Given the description of an element on the screen output the (x, y) to click on. 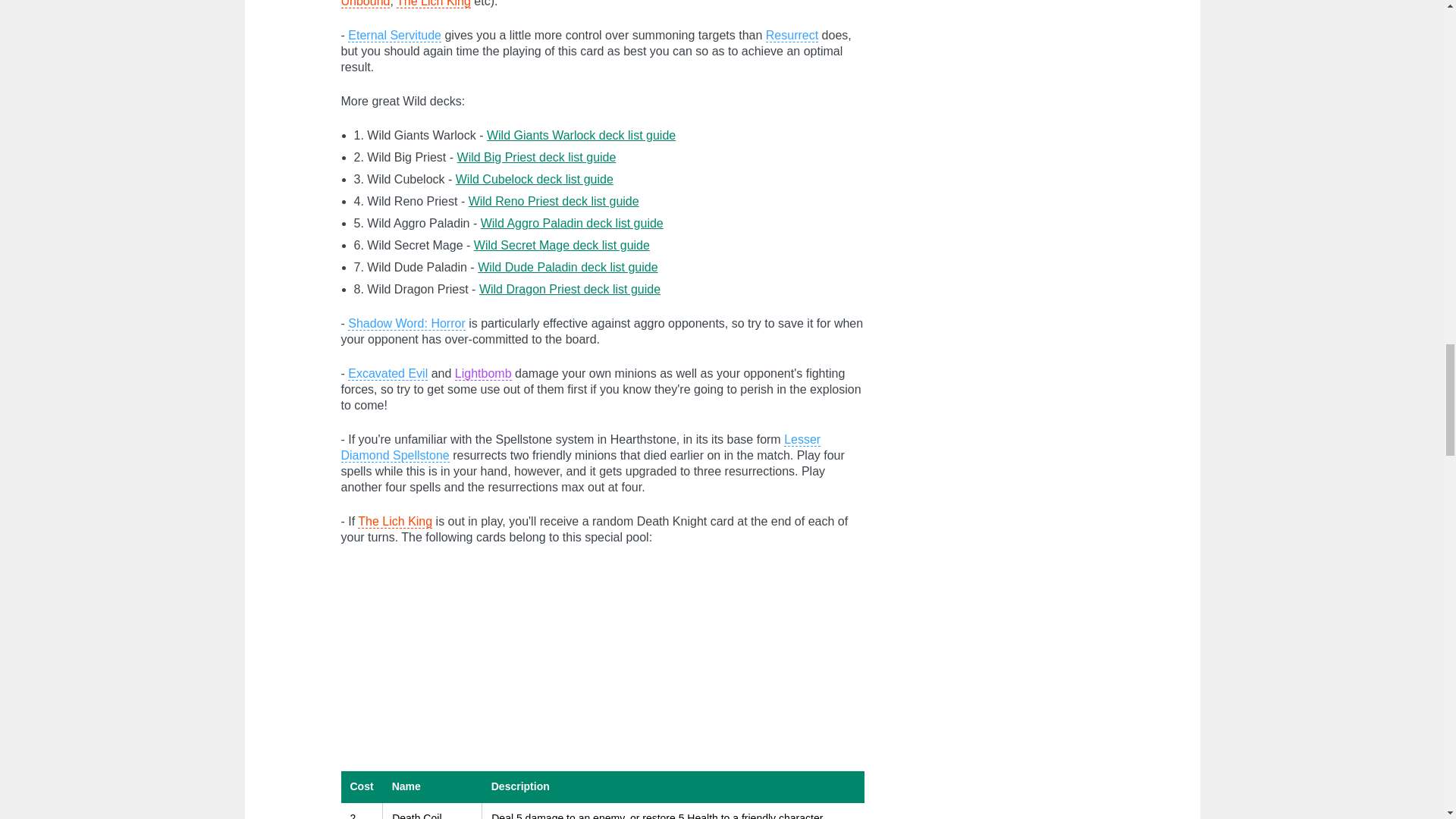
Wild Secret Mage deck list guide (561, 245)
Wild Reno Priest deck list guide (553, 201)
Wild Aggro Paladin deck list guide (571, 223)
Wild Giants Warlock deck list guide (580, 134)
Wild Big Priest deck list guide (536, 156)
Wild Cubelock deck list guide (533, 178)
